Given the description of an element on the screen output the (x, y) to click on. 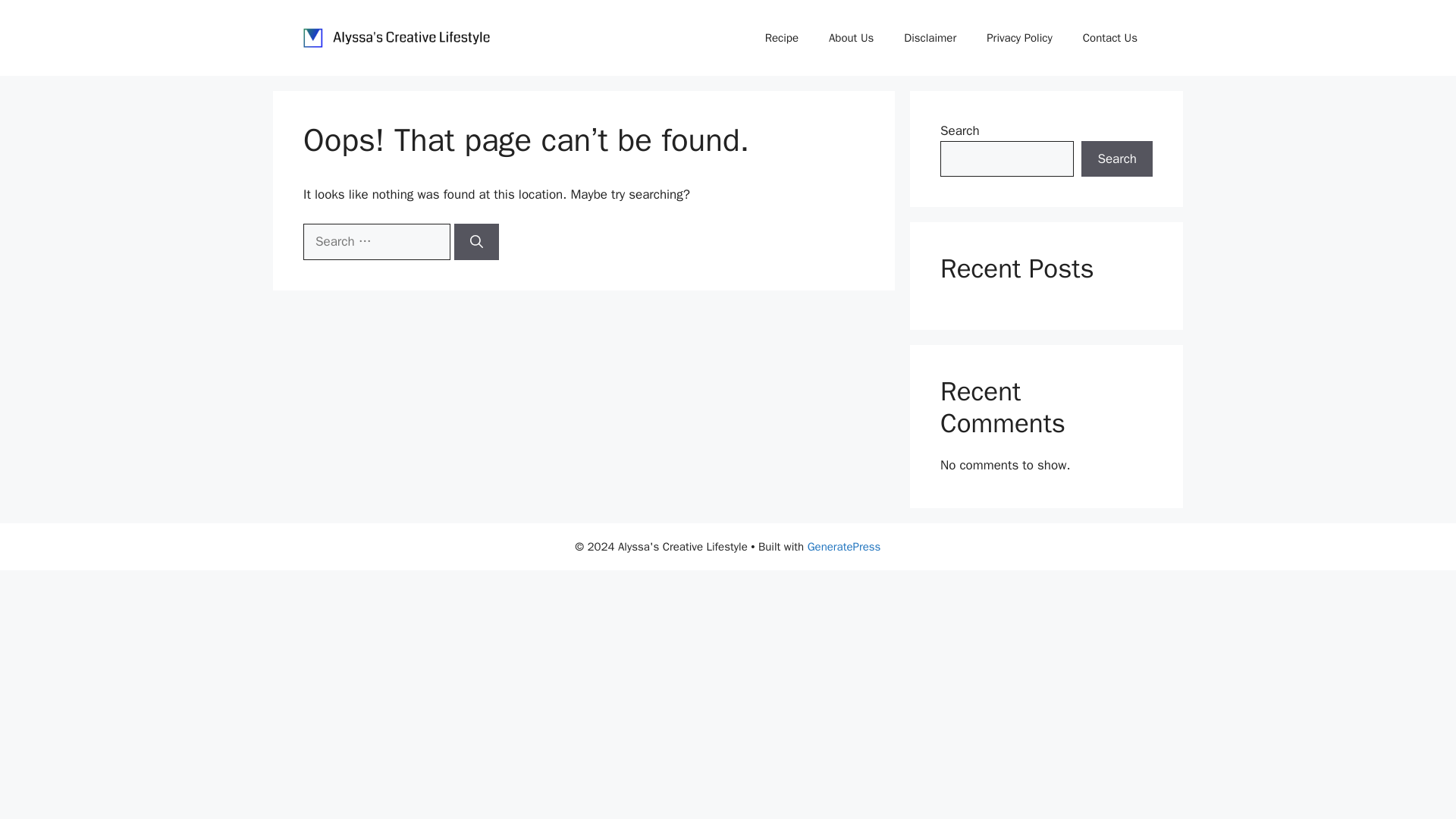
Disclaimer (929, 37)
About Us (850, 37)
GeneratePress (844, 546)
Recipe (781, 37)
Search for: (375, 241)
Contact Us (1110, 37)
Search (1117, 158)
Privacy Policy (1019, 37)
